Given the description of an element on the screen output the (x, y) to click on. 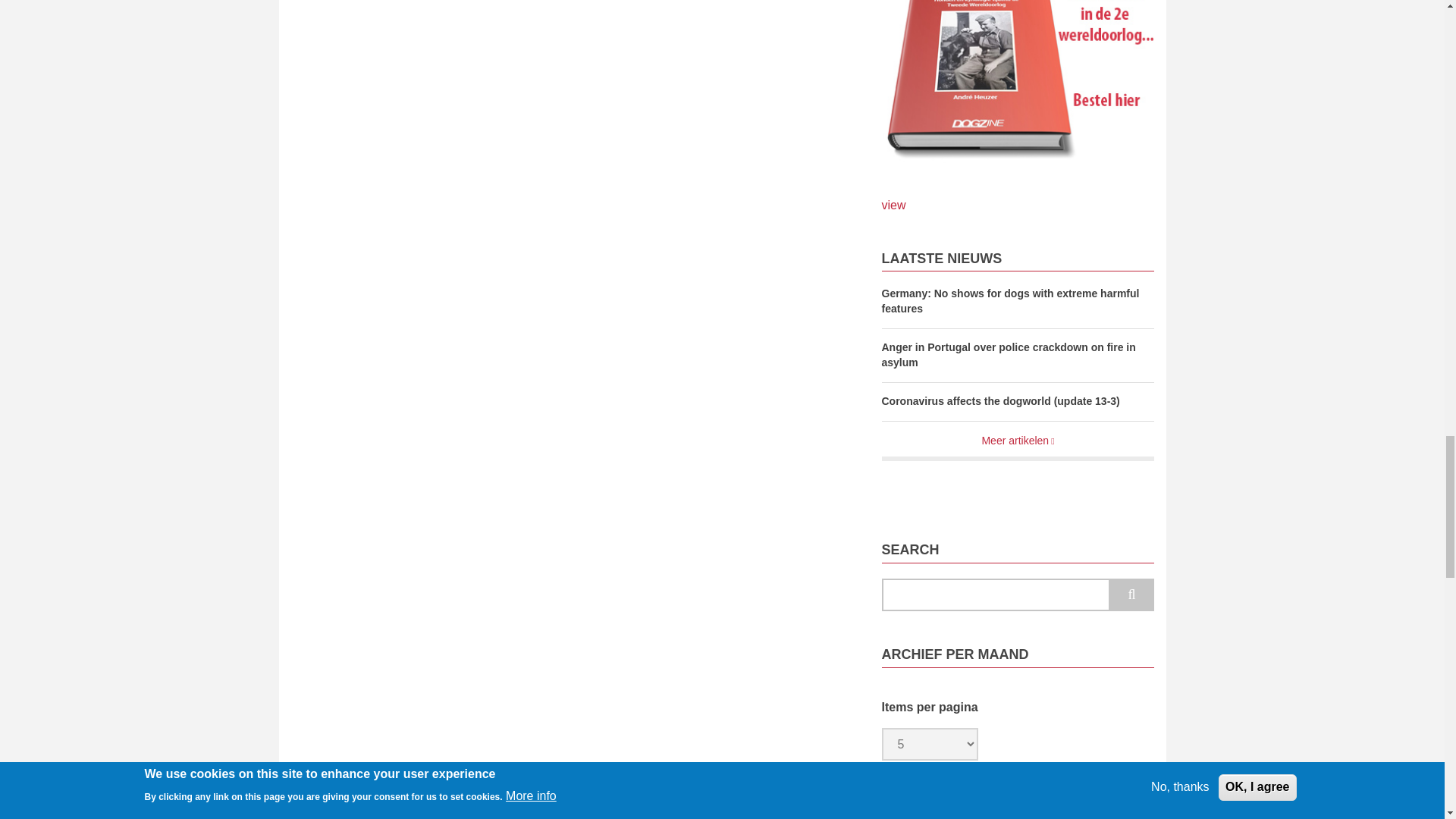
Search (1131, 594)
lijst (1017, 83)
Search (1131, 594)
Selecteer (929, 805)
